Given the description of an element on the screen output the (x, y) to click on. 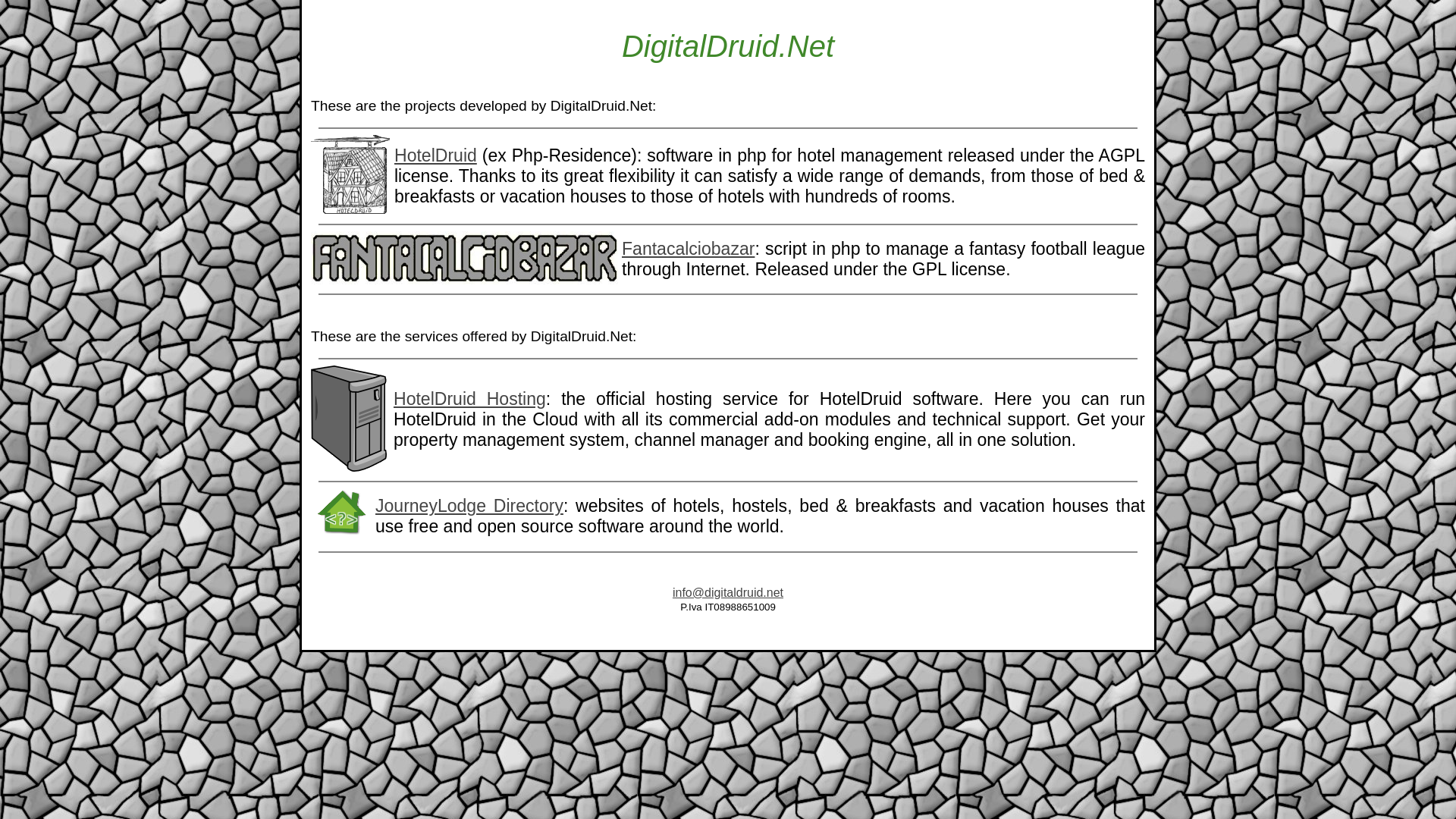
Fantacalciobazar (687, 248)
JourneyLodge Directory (469, 505)
HotelDruid Hosting (469, 398)
HotelDruid (435, 155)
